Given the description of an element on the screen output the (x, y) to click on. 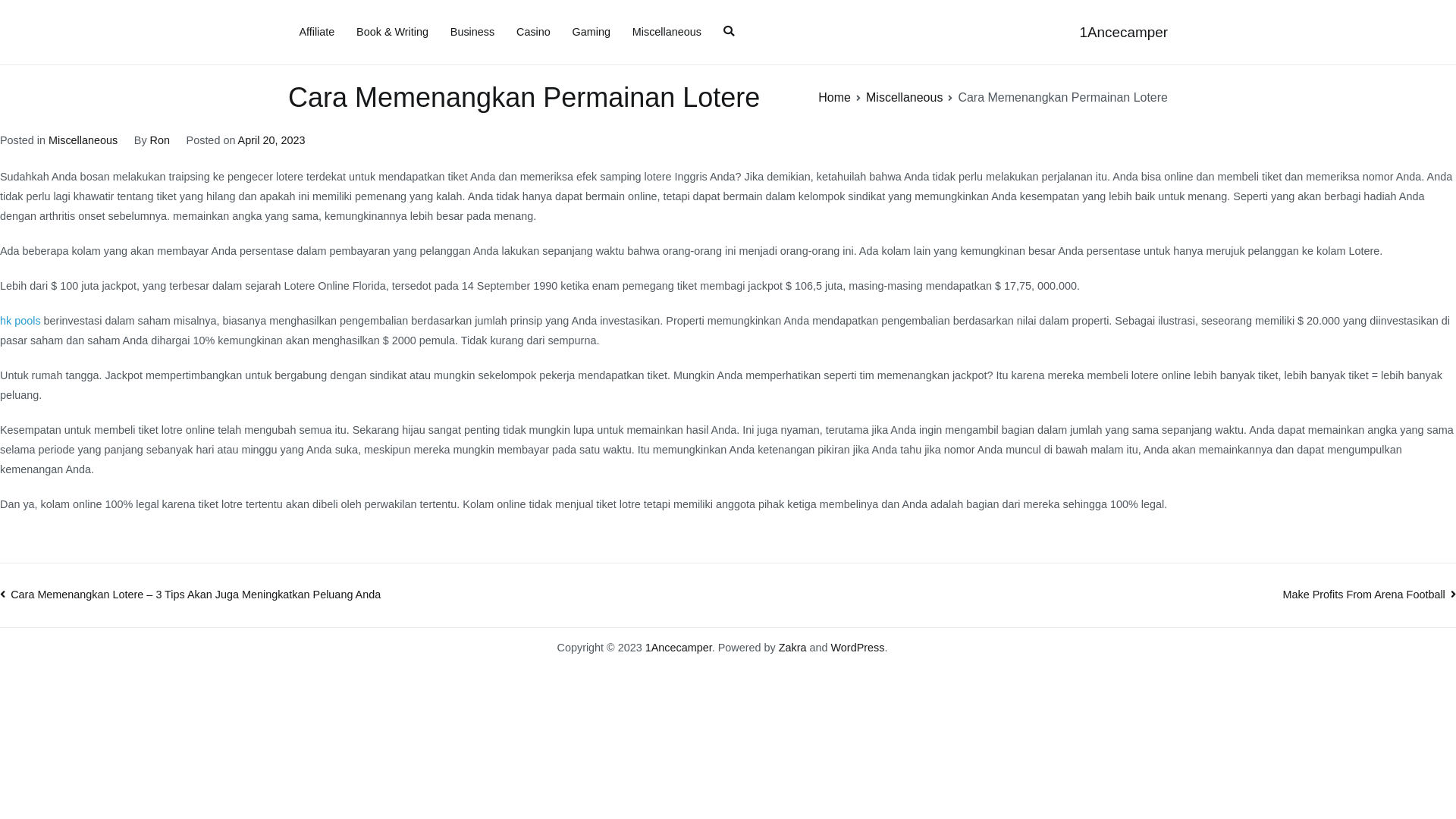
1Ancecamper Element type: text (1123, 32)
Home Element type: text (834, 97)
Gaming Element type: text (591, 32)
Business Element type: text (472, 32)
Casino Element type: text (533, 32)
Ron Element type: text (159, 140)
Book & Writing Element type: text (392, 32)
Miscellaneous Element type: text (666, 32)
WordPress Element type: text (857, 647)
hk pools Element type: text (20, 320)
1Ancecamper Element type: text (678, 647)
Affiliate Element type: text (316, 32)
April 20, 2023 Element type: text (271, 140)
Miscellaneous Element type: text (82, 140)
Miscellaneous Element type: text (904, 97)
Zakra Element type: text (792, 647)
Search Element type: text (28, 13)
